Given the description of an element on the screen output the (x, y) to click on. 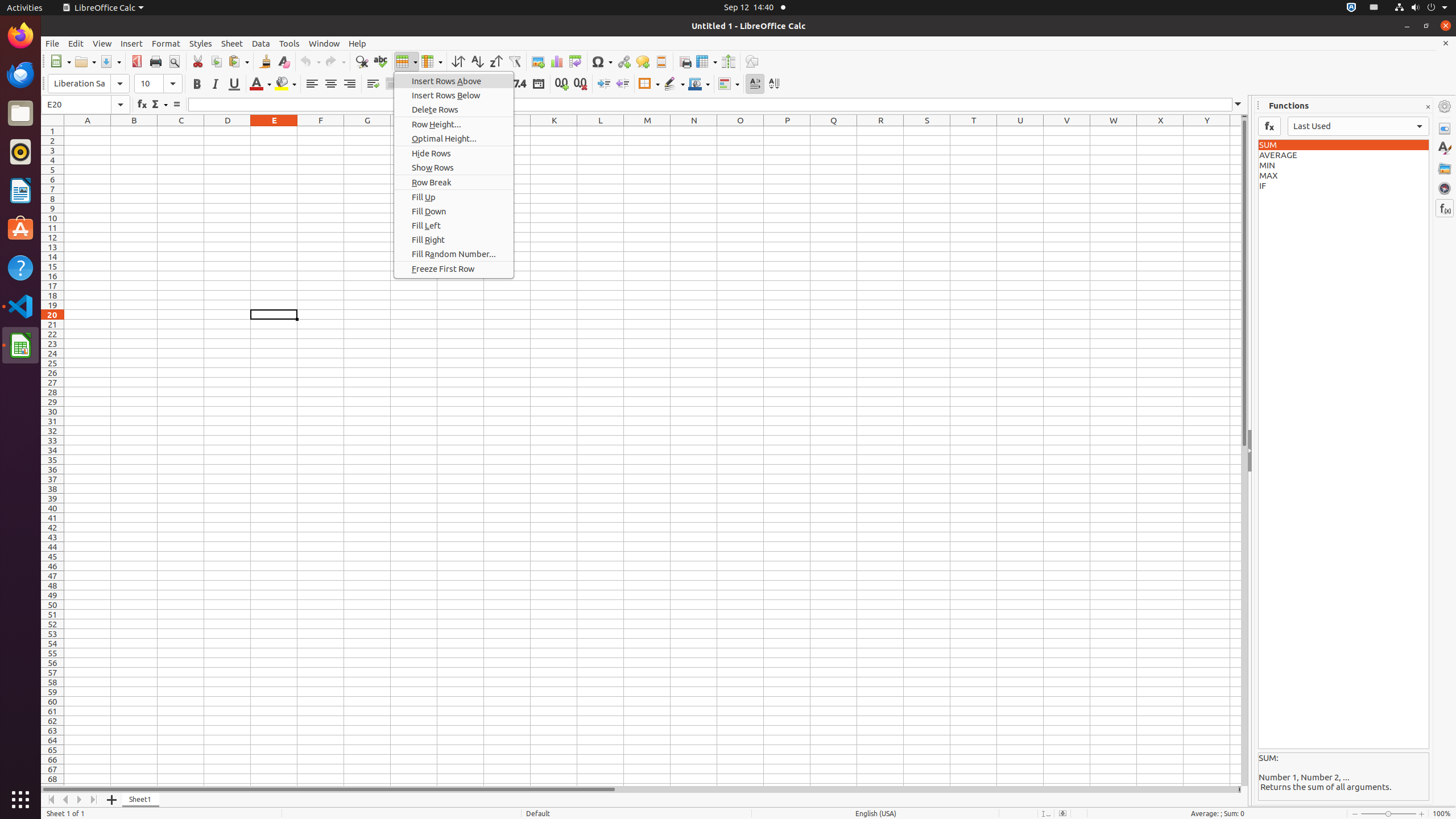
Ubuntu Software Element type: push-button (20, 229)
Rhythmbox Element type: push-button (20, 151)
LibreOffice Calc Element type: push-button (20, 344)
:1.21/StatusNotifierItem Element type: menu (1373, 7)
